Given the description of an element on the screen output the (x, y) to click on. 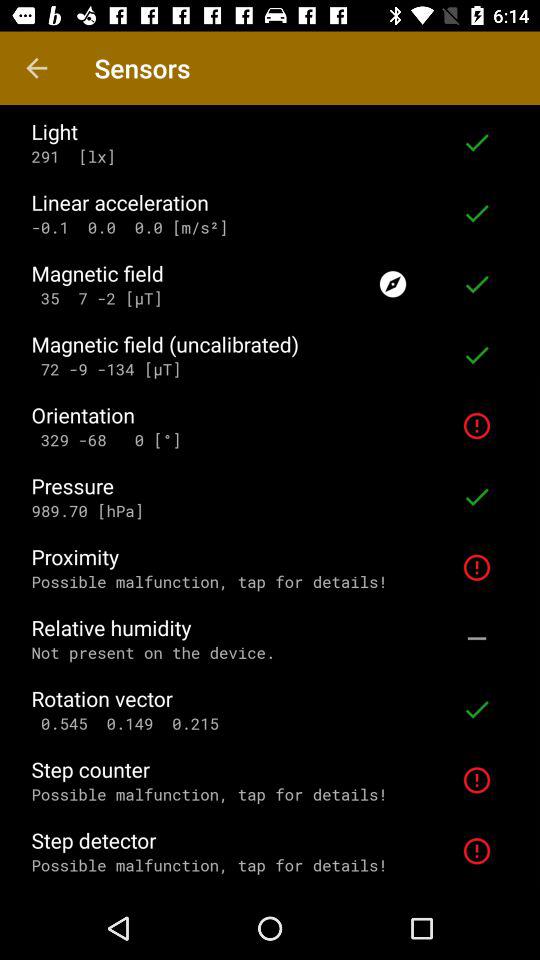
launch the item to the right of magnetic field (392, 283)
